Given the description of an element on the screen output the (x, y) to click on. 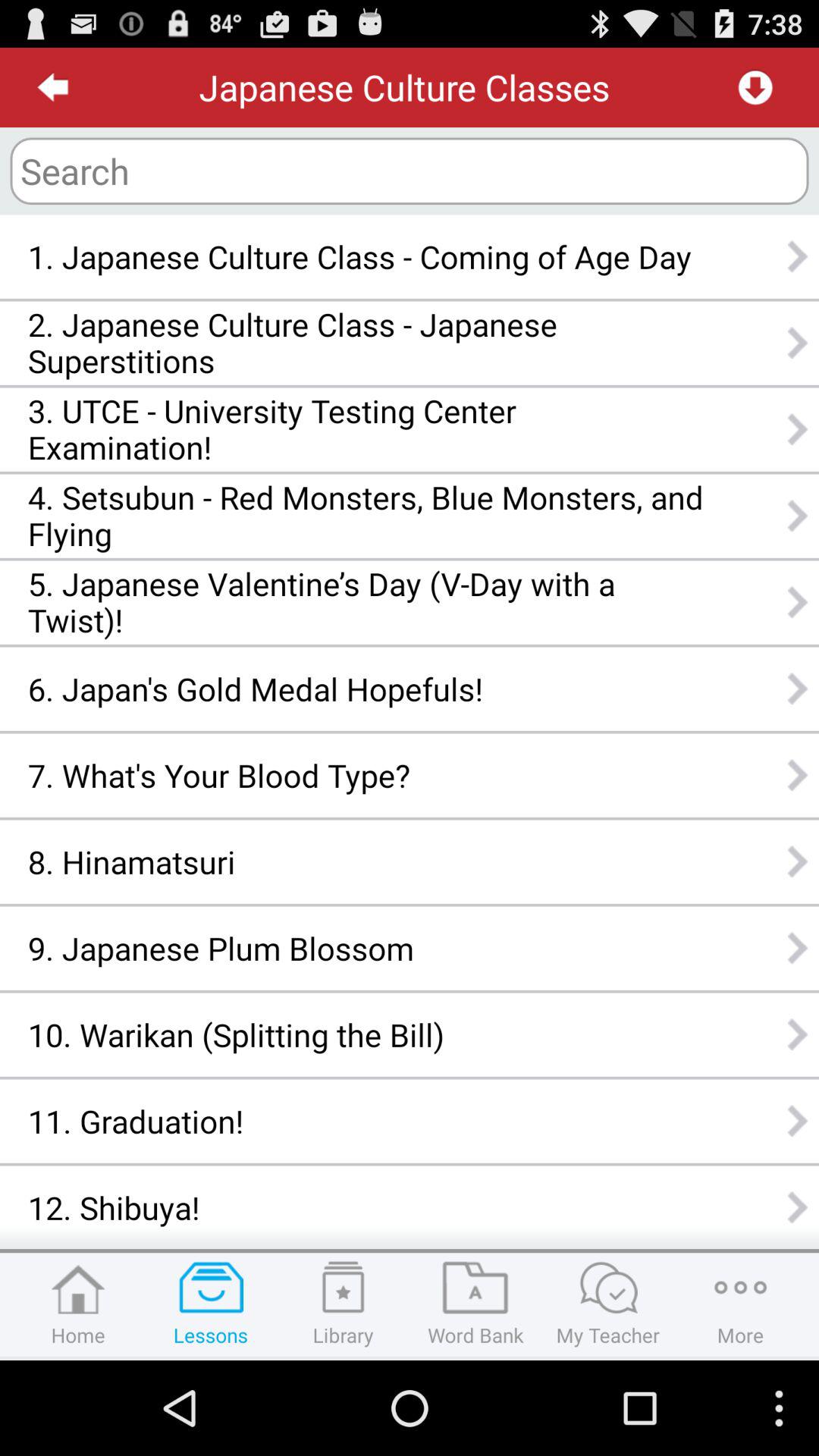
click the icon below the 9 japanese plum icon (365, 1034)
